Given the description of an element on the screen output the (x, y) to click on. 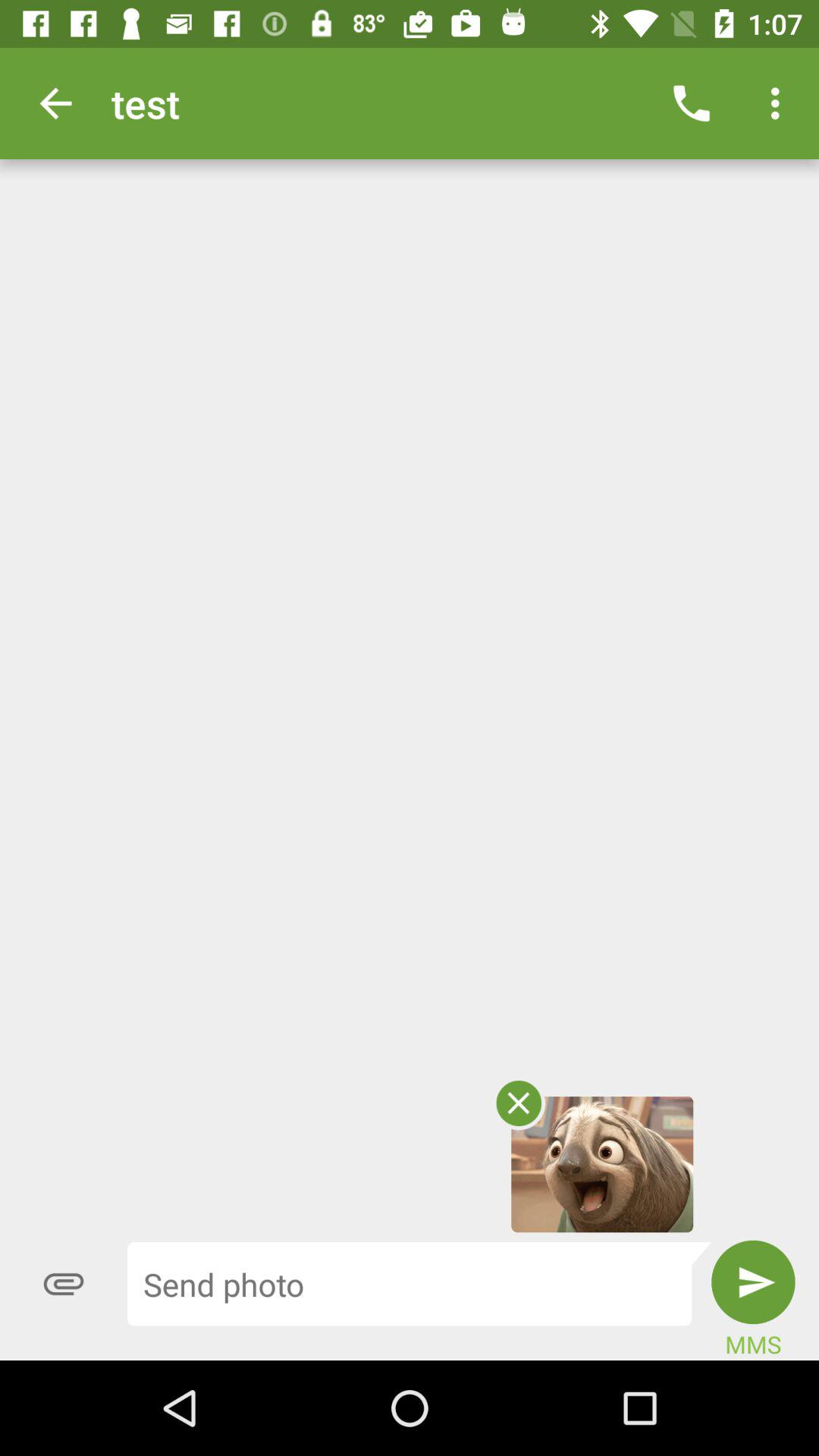
turn off icon at the bottom left corner (63, 1284)
